Given the description of an element on the screen output the (x, y) to click on. 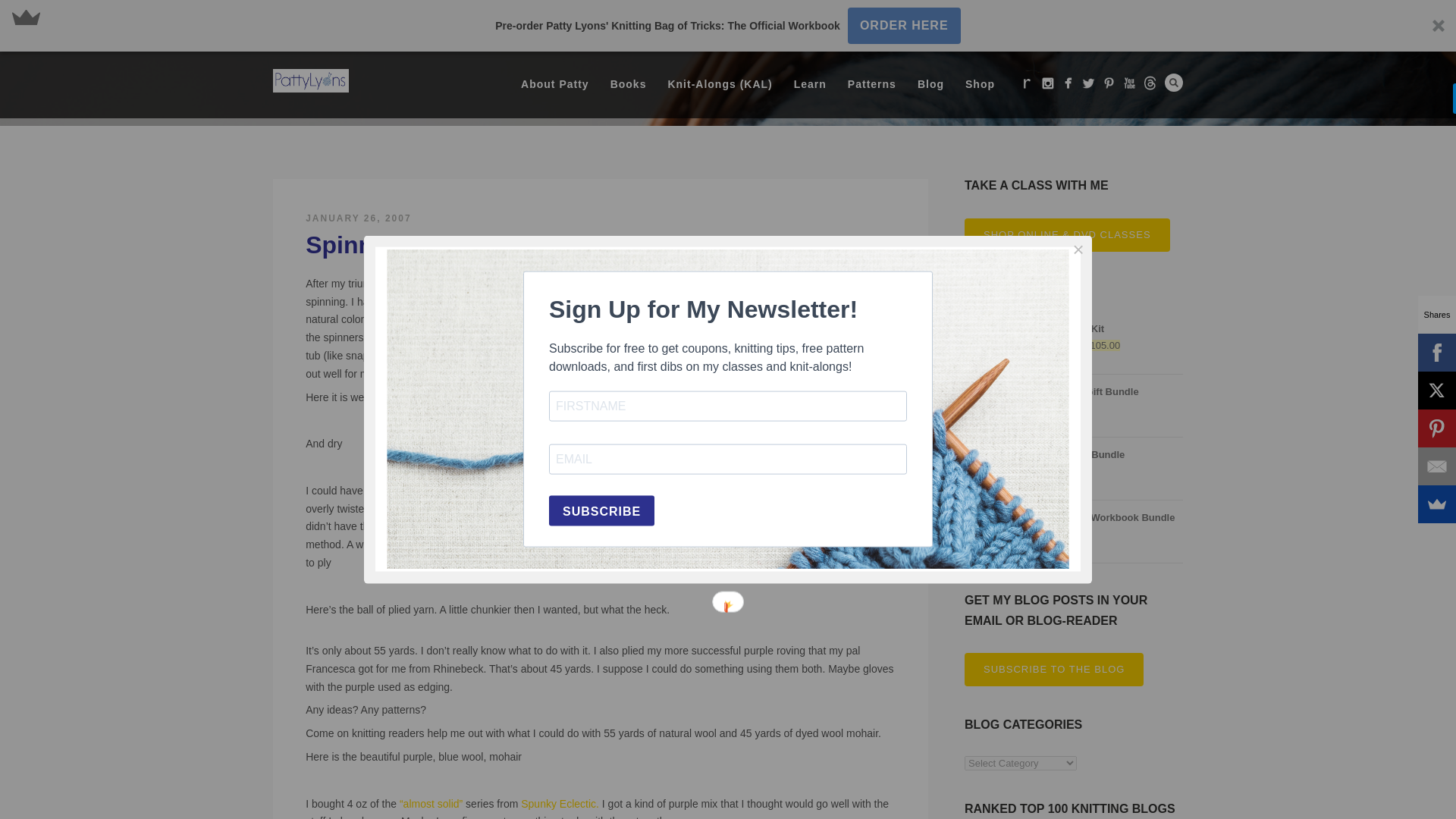
YouTube (1128, 82)
Twitter (1087, 82)
Blog (931, 84)
Threads (1149, 82)
ORDER HERE (903, 25)
Patterns (872, 84)
Shop (980, 84)
Learn (810, 84)
Pinterest (1108, 82)
Facebook (1067, 82)
Books (628, 84)
Search (1173, 82)
About Patty (555, 84)
Ravelry (1026, 82)
Instagram (1047, 82)
